Given the description of an element on the screen output the (x, y) to click on. 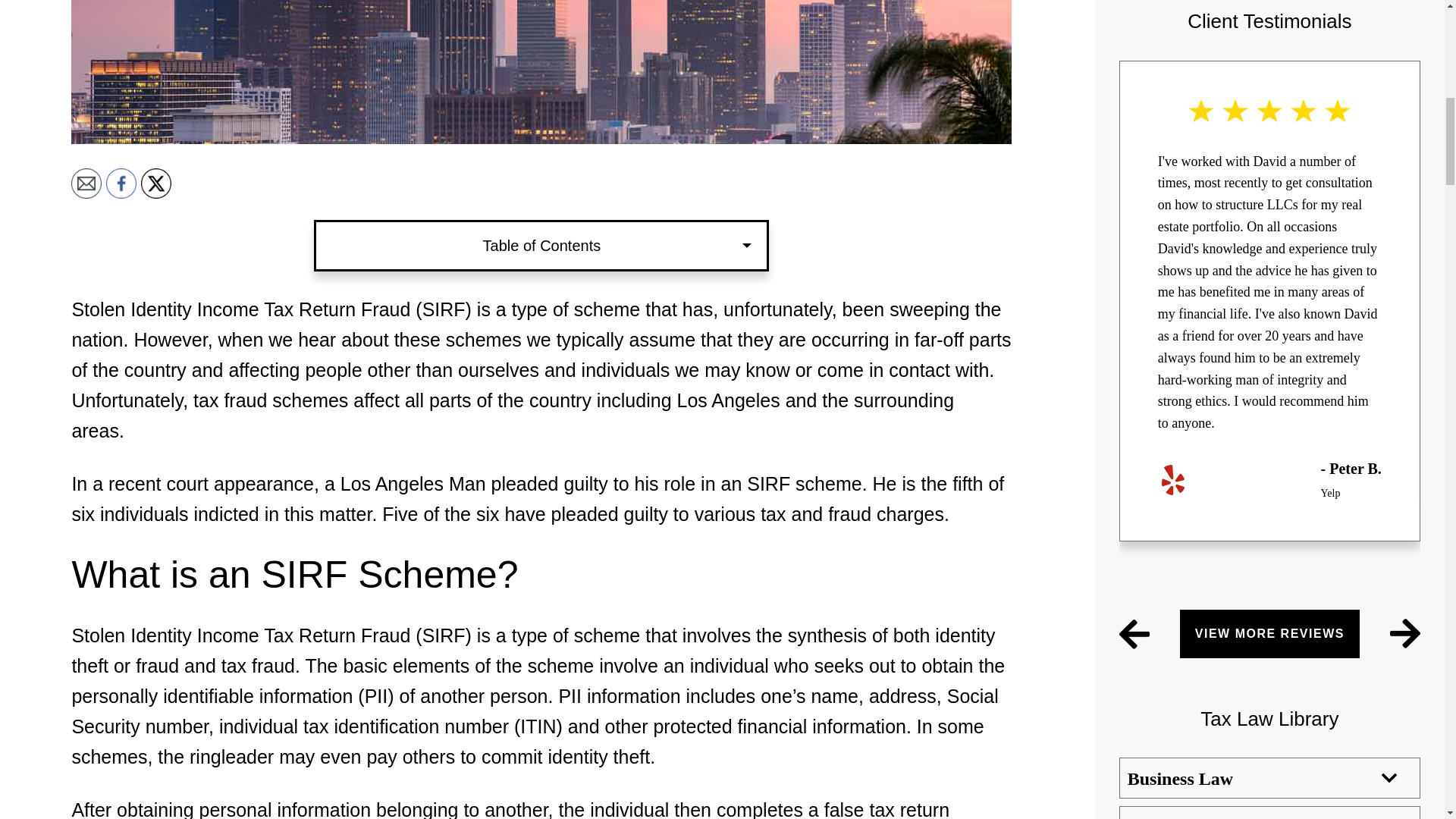
Follow by Email (86, 183)
Facebook (121, 183)
